Given the description of an element on the screen output the (x, y) to click on. 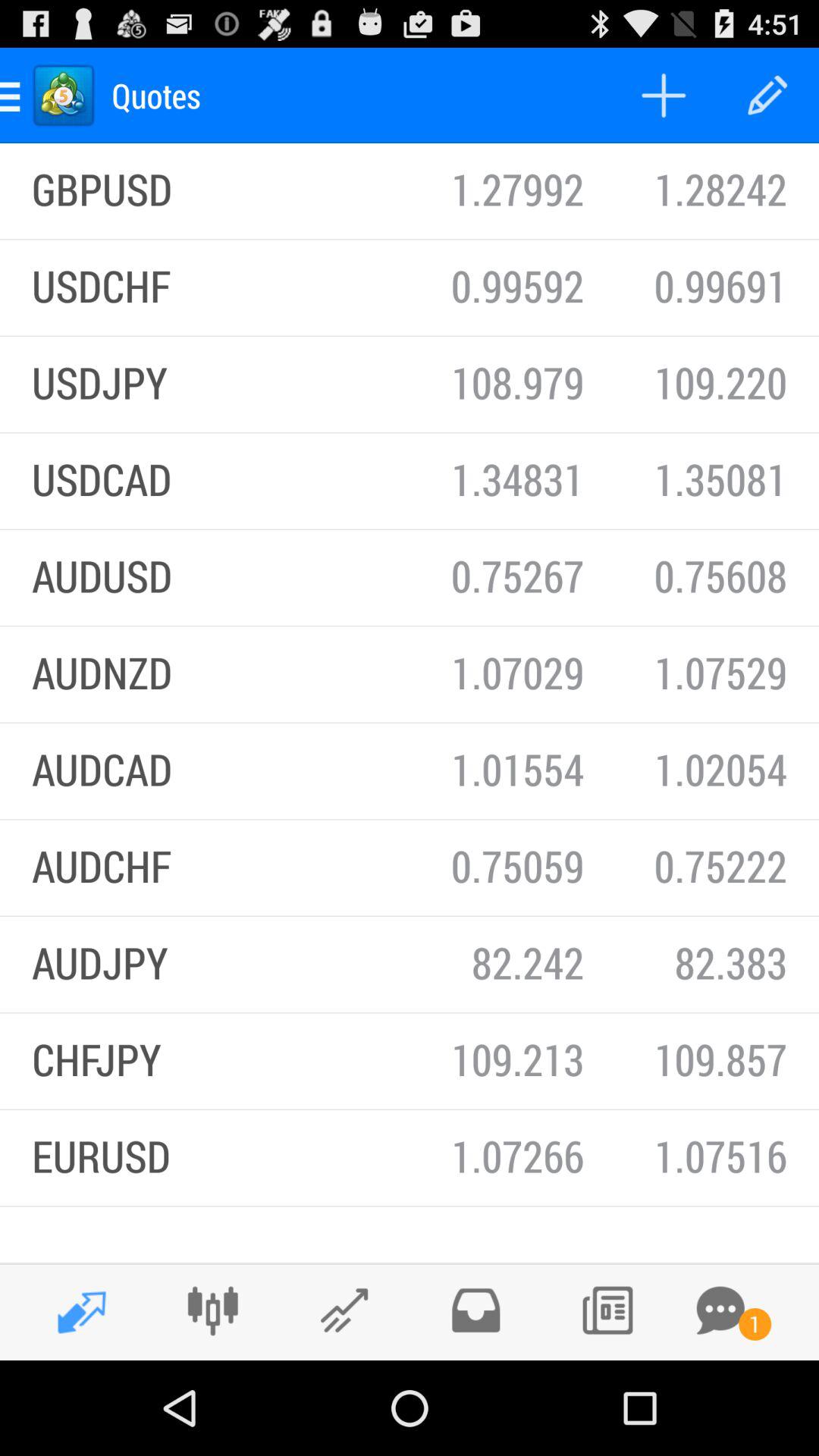
newspaper (606, 1310)
